Given the description of an element on the screen output the (x, y) to click on. 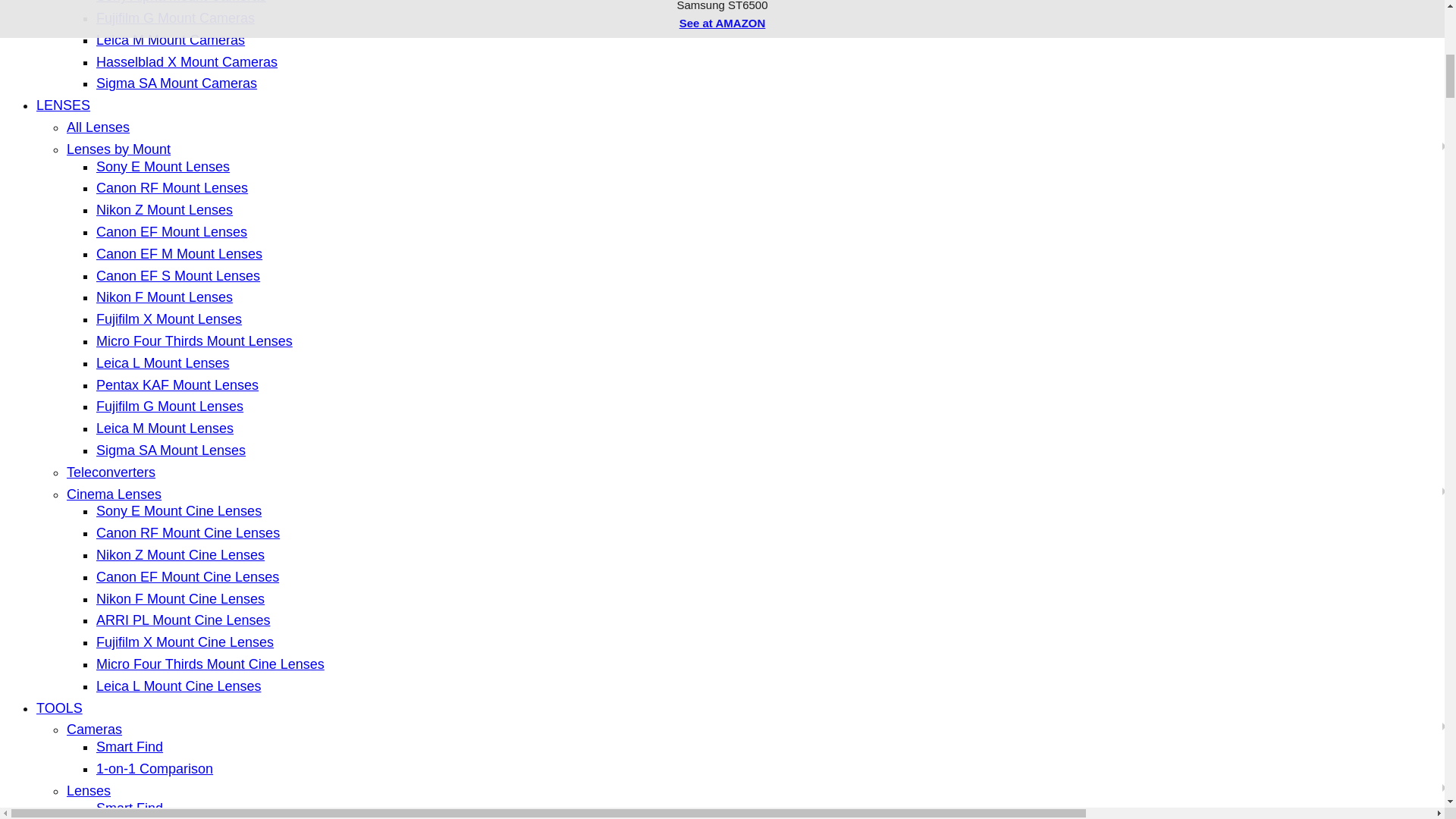
LENSES (63, 105)
Leica M Mount Cameras (170, 39)
Sigma SA Mount Cameras (176, 83)
Hasselblad X Mount Cameras (187, 61)
Fujifilm G Mount Cameras (175, 17)
Sony Alpha Mount Cameras (181, 2)
